Given the description of an element on the screen output the (x, y) to click on. 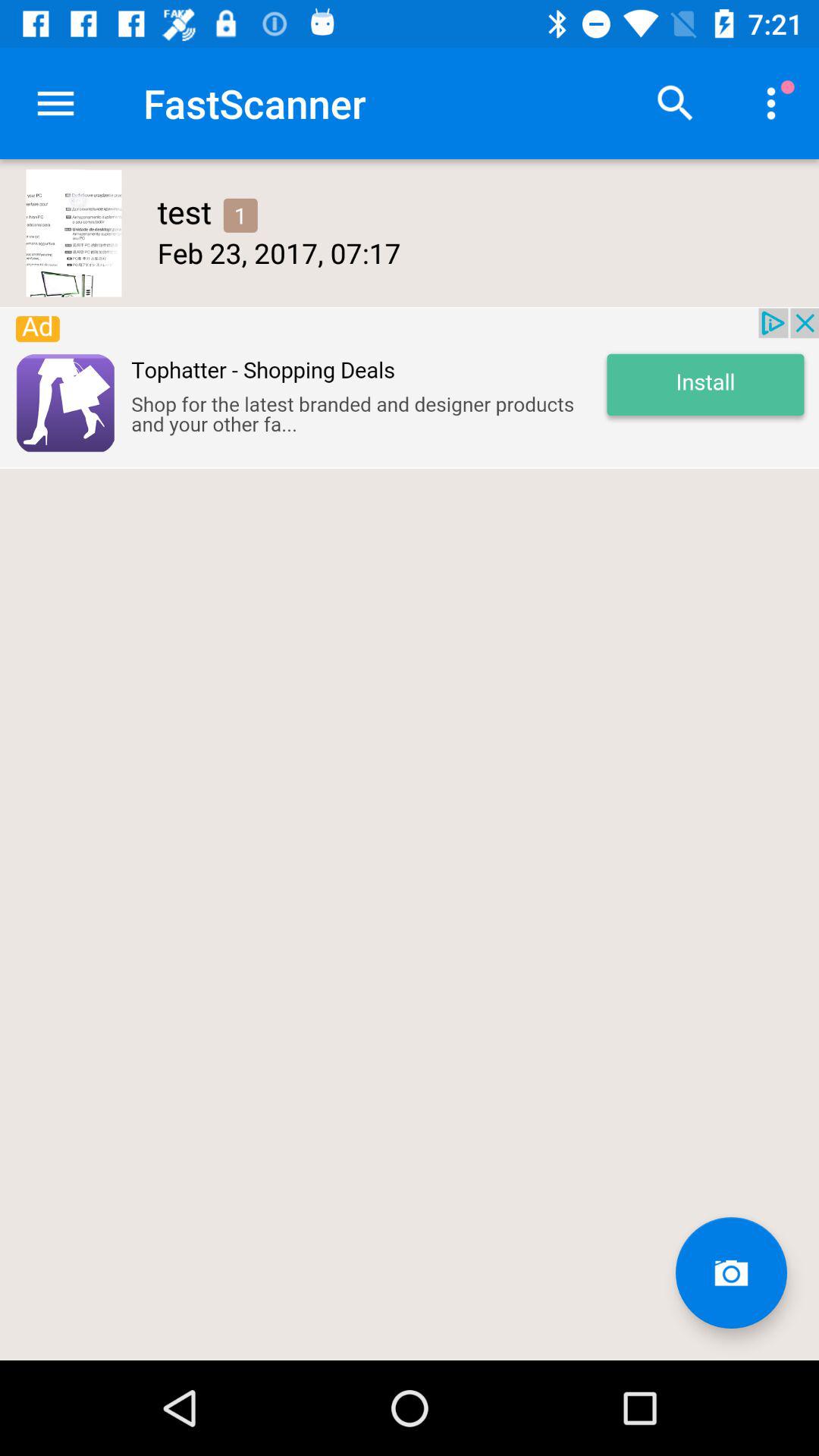
open camera (731, 1272)
